Given the description of an element on the screen output the (x, y) to click on. 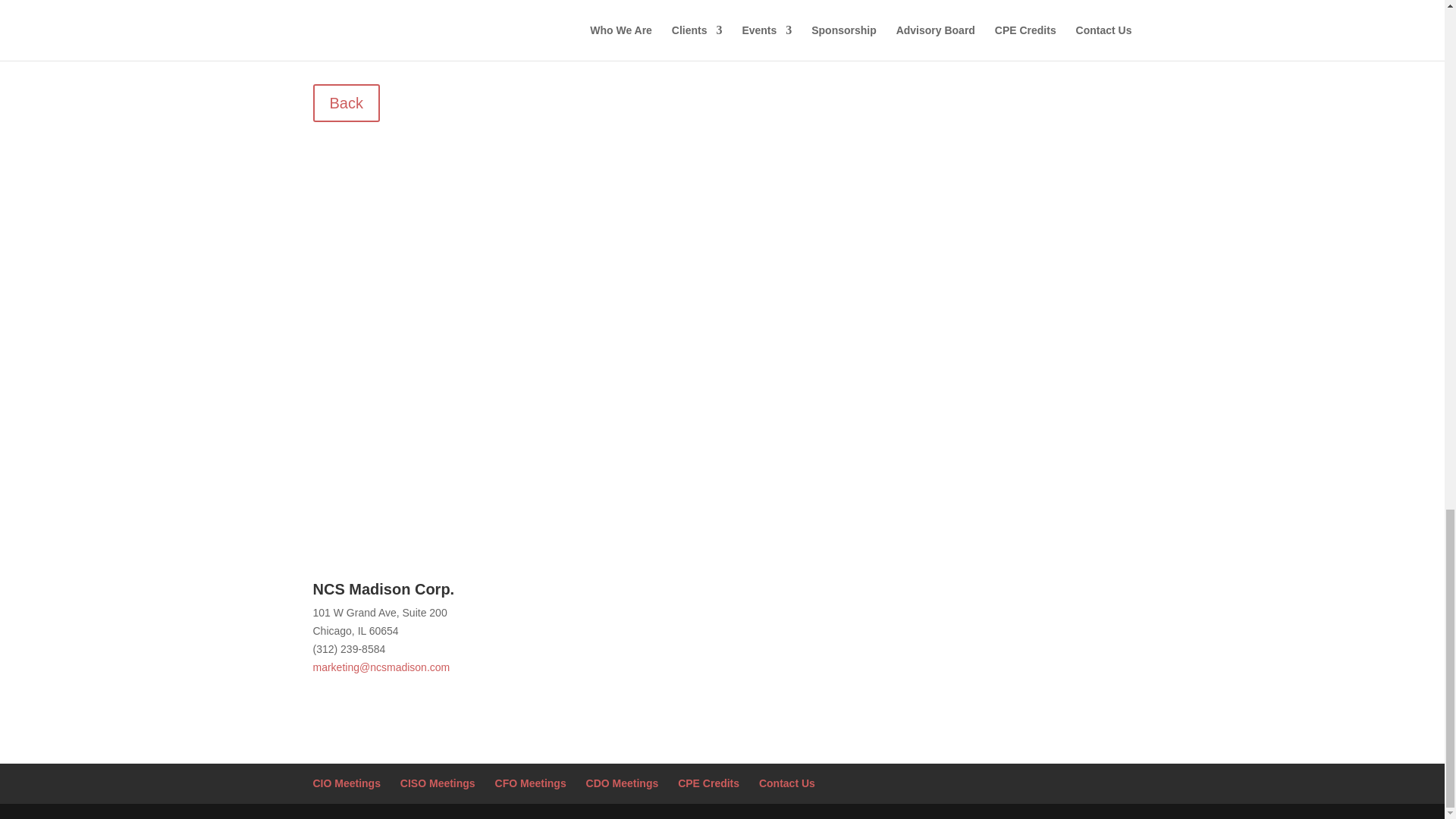
Follow on Twitter (930, 593)
Follow on LinkedIn (900, 593)
Back (345, 103)
CPE Credits (708, 783)
CDO Meetings (622, 783)
CIO Meetings (346, 783)
Contact Us (786, 783)
CISO Meetings (438, 783)
REQUEST AN INVITE (721, 313)
Christopher.Fielder (398, 12)
